Given the description of an element on the screen output the (x, y) to click on. 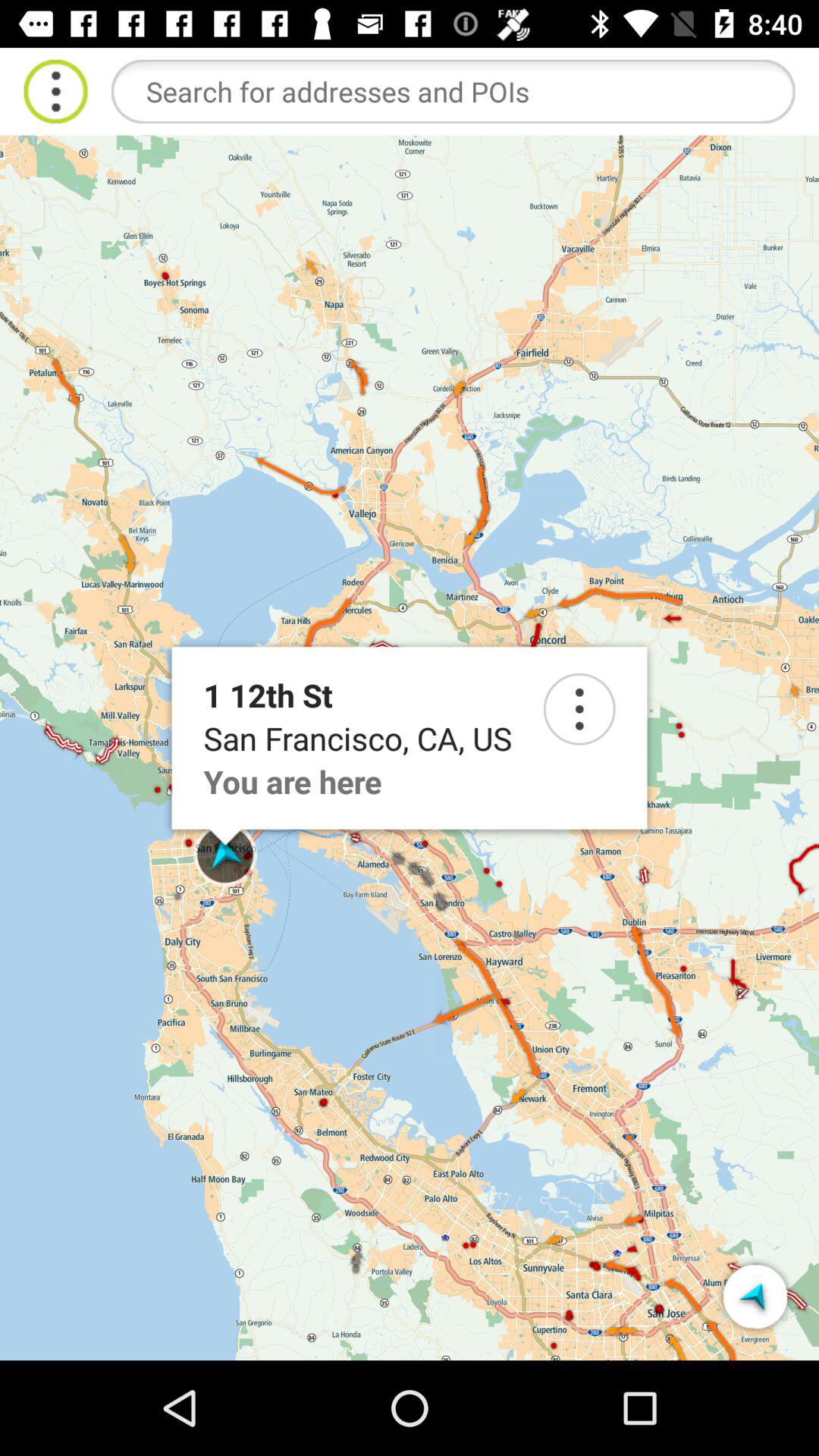
go to customize (55, 91)
